Given the description of an element on the screen output the (x, y) to click on. 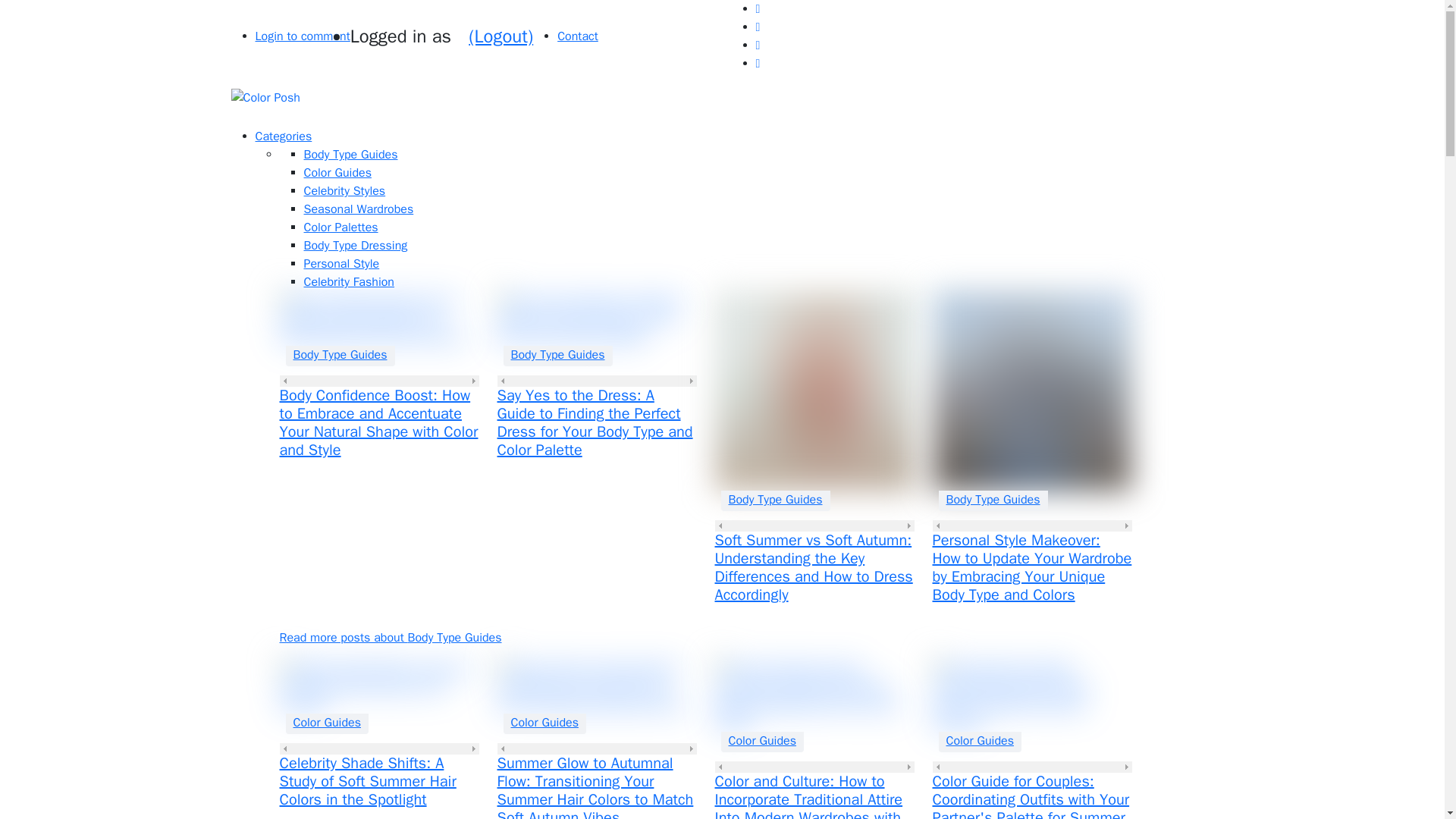
Body Type Guides (349, 154)
Color Guides (544, 722)
Color Guides (336, 172)
Body Type Dressing (354, 245)
Body Type Guides (993, 499)
Body Type Guides (339, 354)
